Given the description of an element on the screen output the (x, y) to click on. 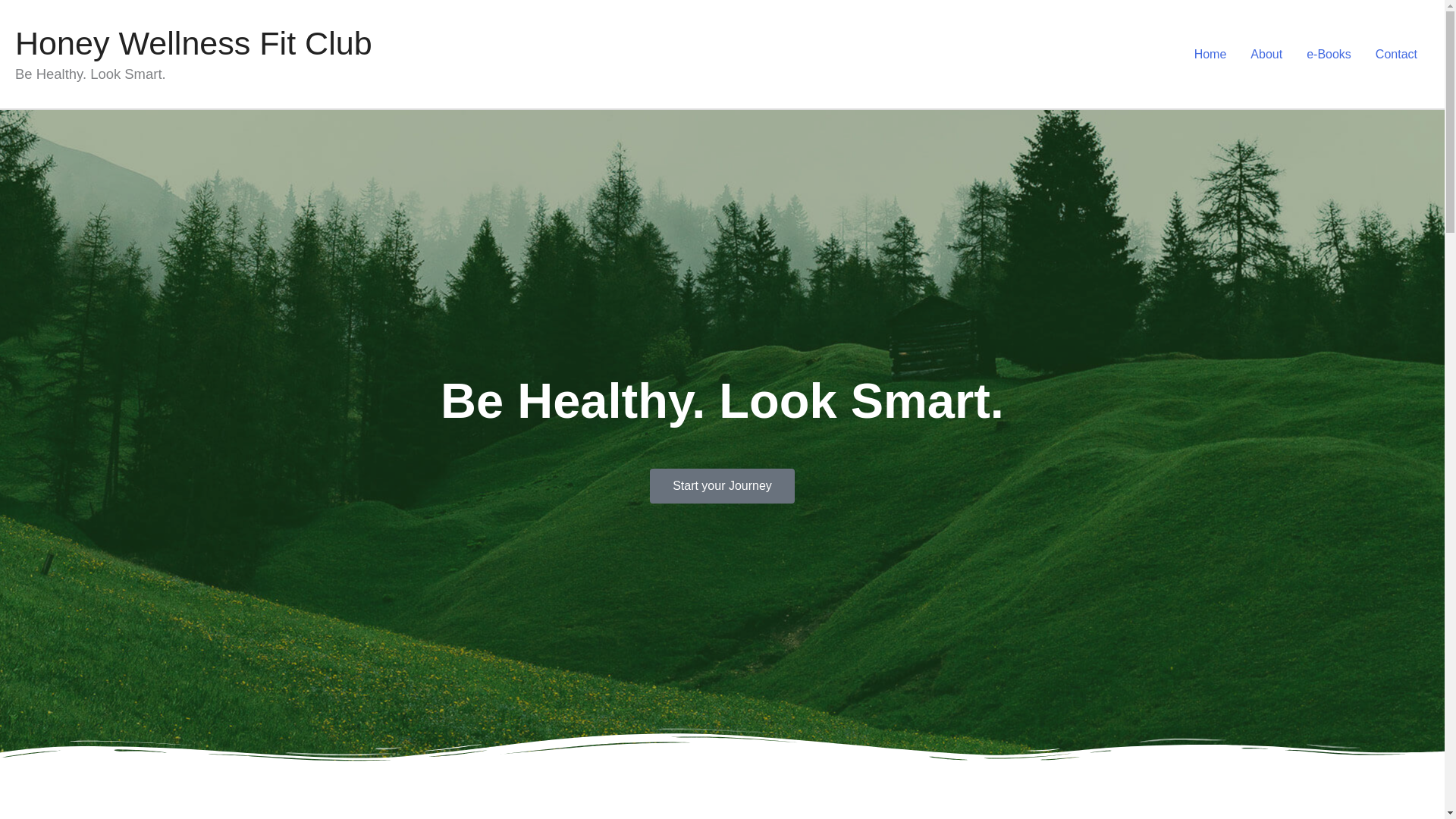
About (1266, 54)
Home (1210, 54)
Honey Wellness Fit Club (193, 43)
Start your Journey (721, 485)
Contact (1395, 54)
e-Books (1328, 54)
